Given the description of an element on the screen output the (x, y) to click on. 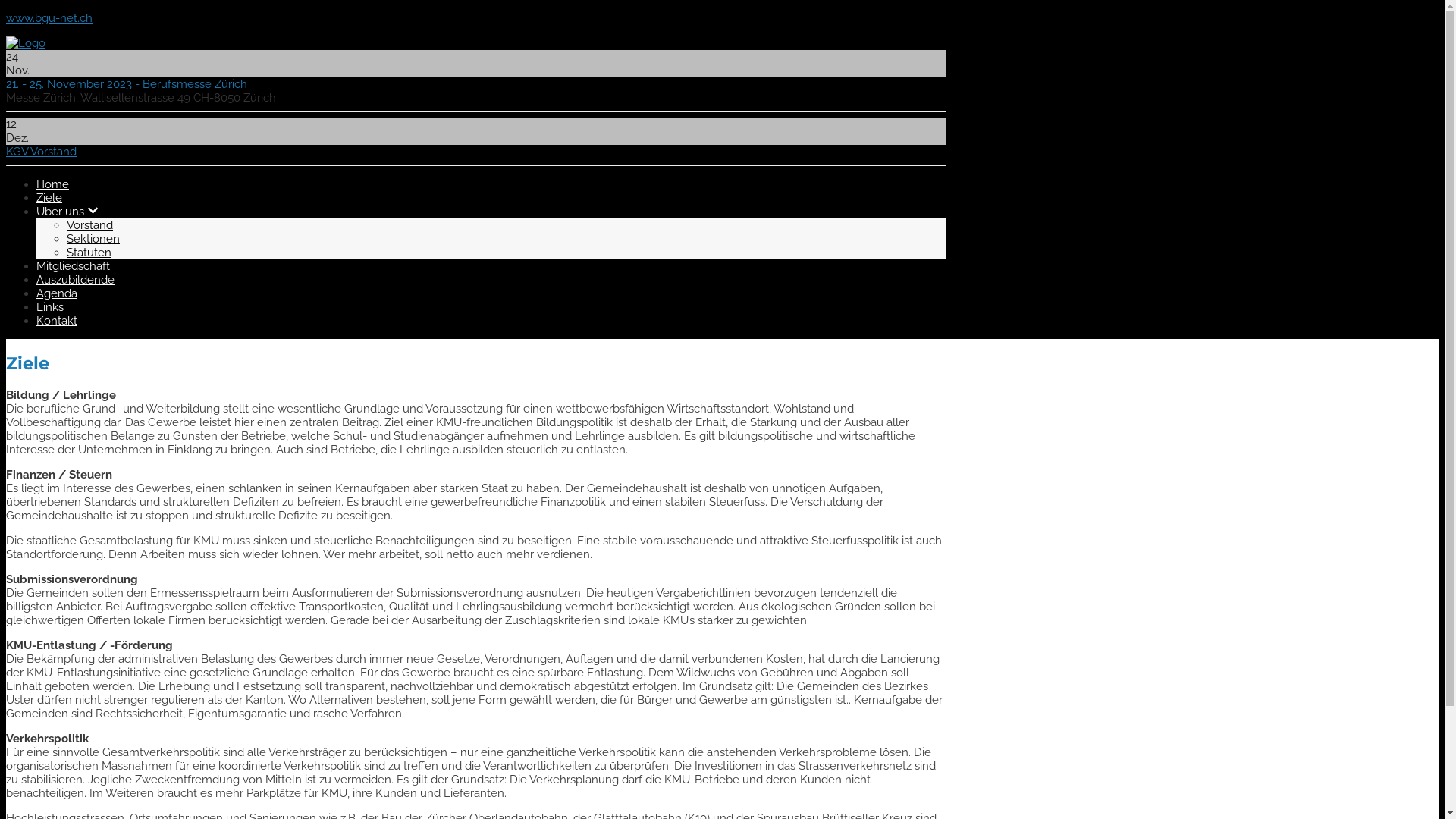
Ziele Element type: text (49, 197)
Agenda Element type: text (56, 293)
Home Element type: text (52, 184)
Auszubildende Element type: text (75, 279)
Kontakt Element type: text (56, 320)
Links Element type: text (49, 306)
www.bgu-net.ch Element type: text (49, 18)
Statuten Element type: text (88, 252)
Mitgliedschaft Element type: text (72, 266)
Sektionen Element type: text (92, 238)
Vorstand Element type: text (89, 225)
KGV Vorstand Element type: text (41, 151)
